Given the description of an element on the screen output the (x, y) to click on. 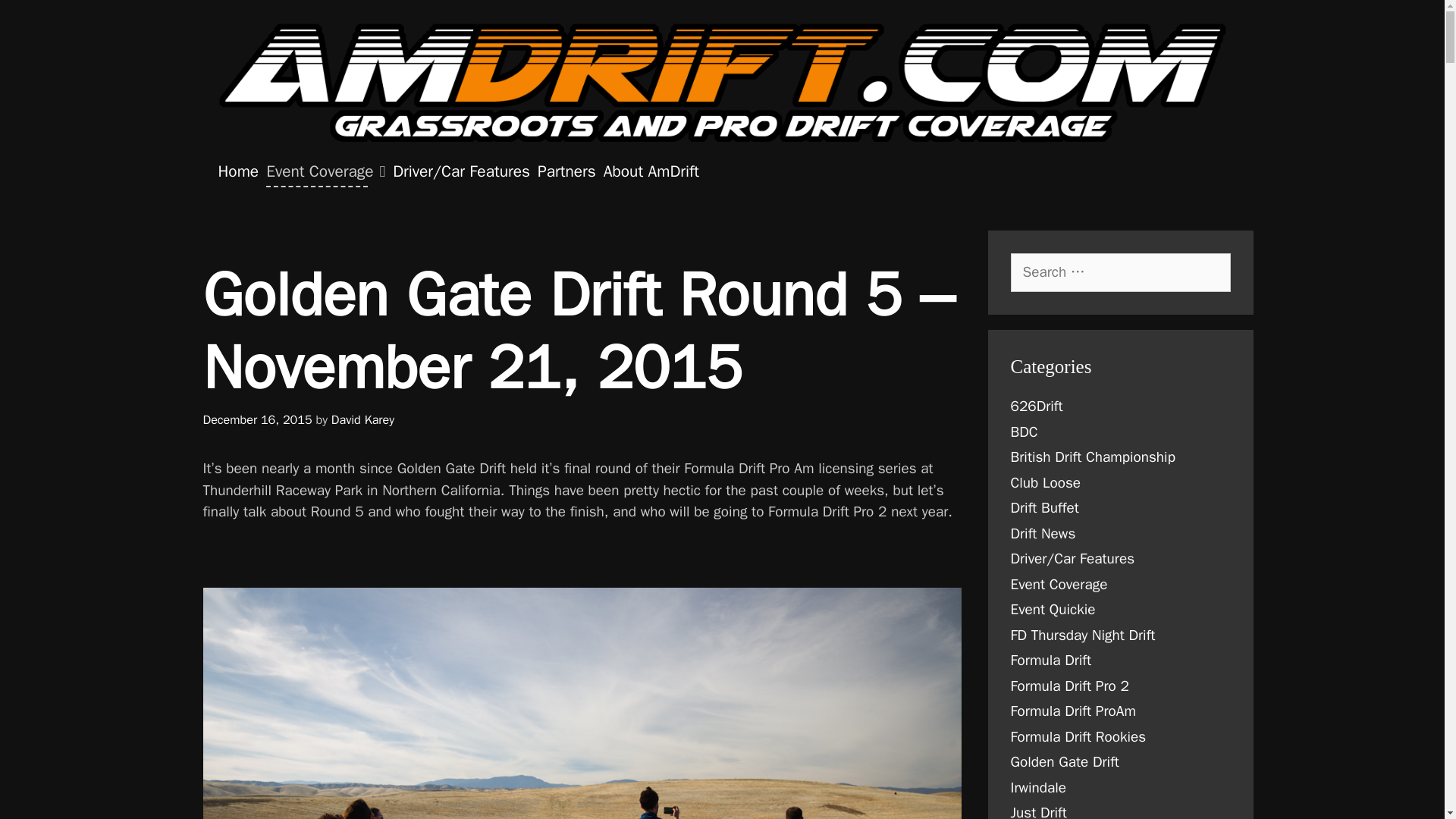
Partners (566, 171)
AMDRIFT.COM (722, 82)
9:21 pm (258, 419)
Home (238, 171)
December 16, 2015 (258, 419)
AMDRIFT.COM (722, 81)
Event Coverage (325, 171)
Search for: (1120, 272)
About AmDrift (651, 171)
David Karey (362, 419)
View all posts by David Karey (362, 419)
